Given the description of an element on the screen output the (x, y) to click on. 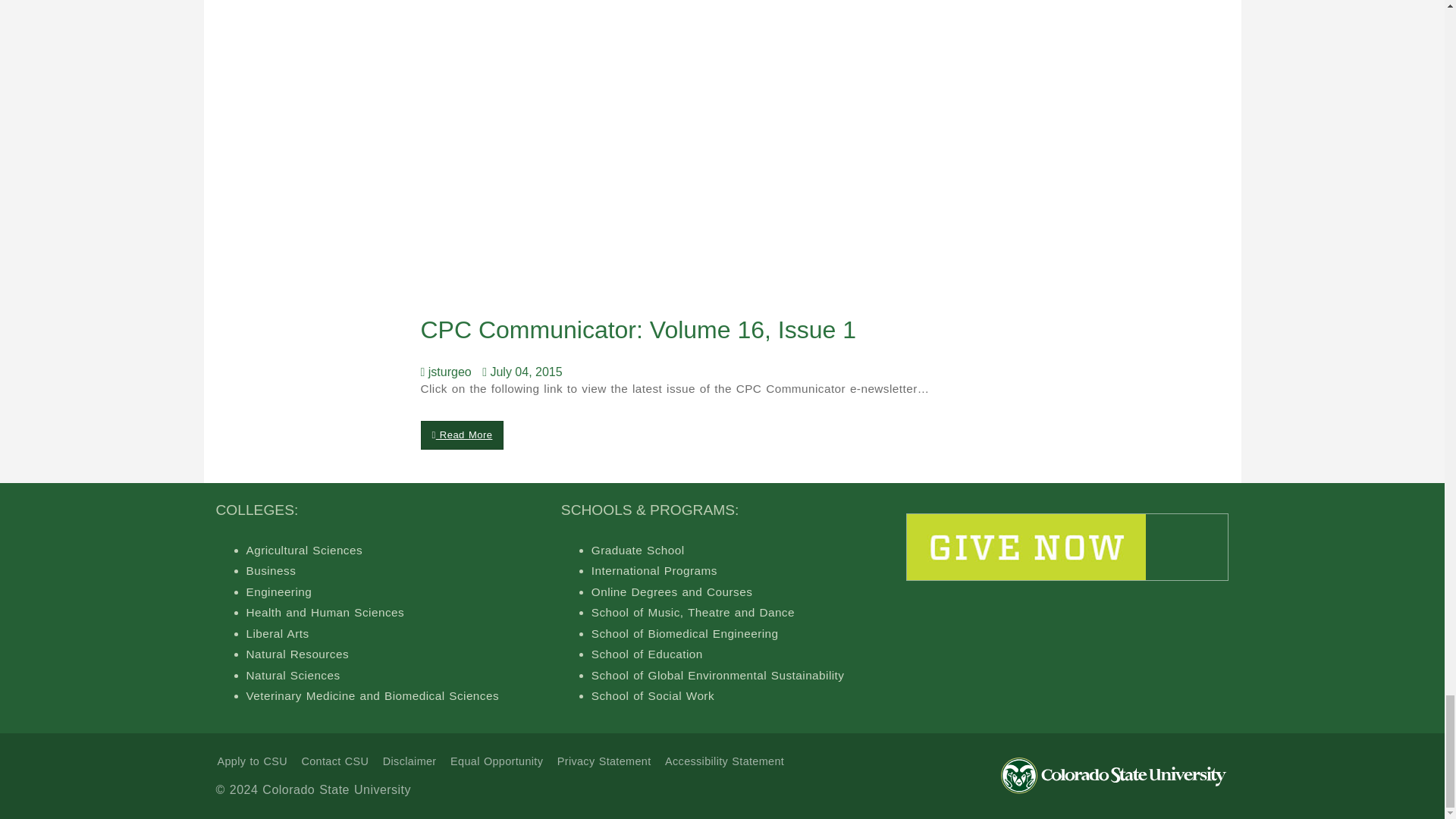
Posts by jsturgeo (449, 371)
